Given the description of an element on the screen output the (x, y) to click on. 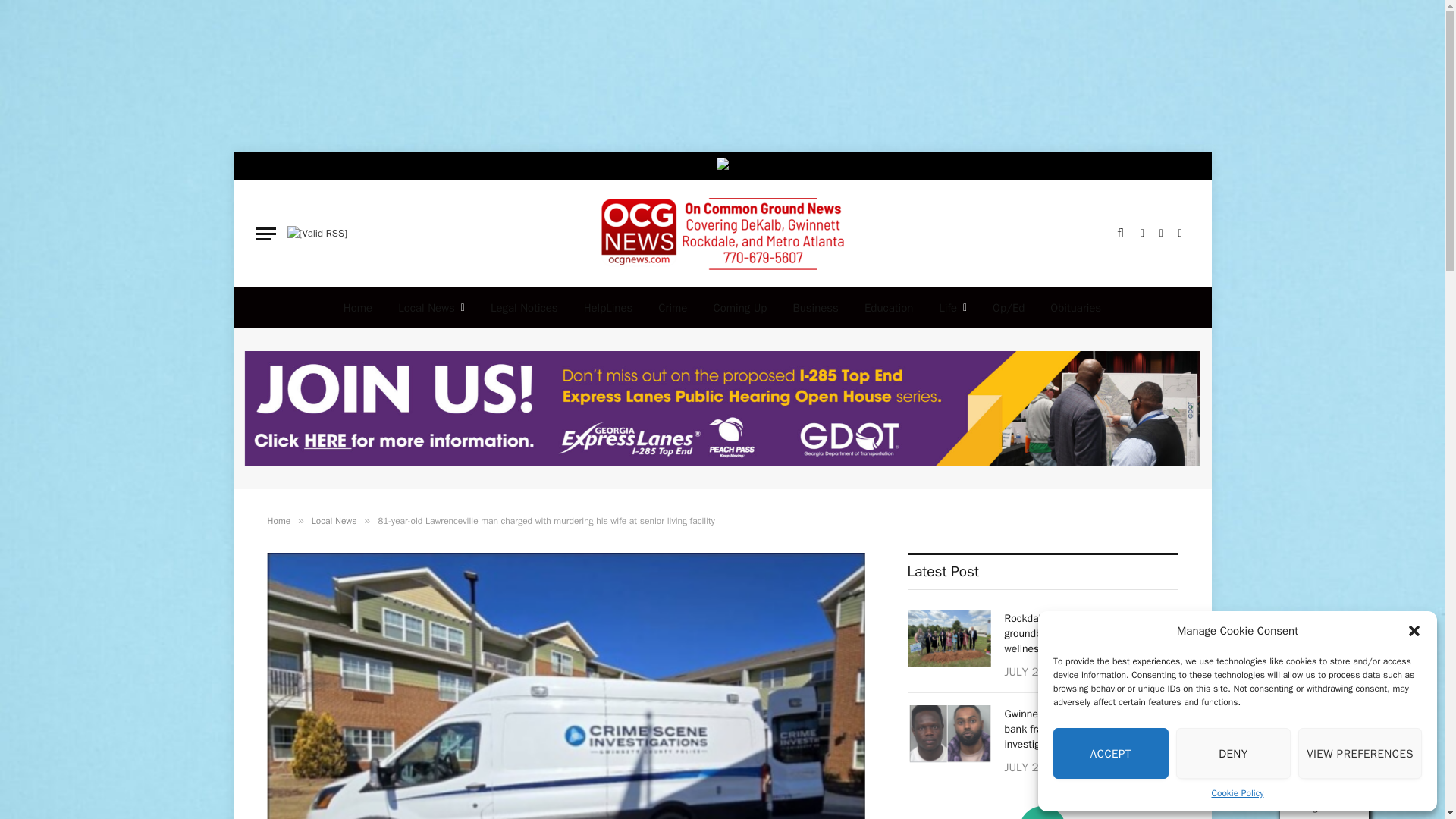
Cookie Policy (1237, 793)
DENY (1233, 753)
ACCEPT (1110, 753)
VIEW PREFERENCES (1360, 753)
Validate my RSS feed (316, 233)
